Given the description of an element on the screen output the (x, y) to click on. 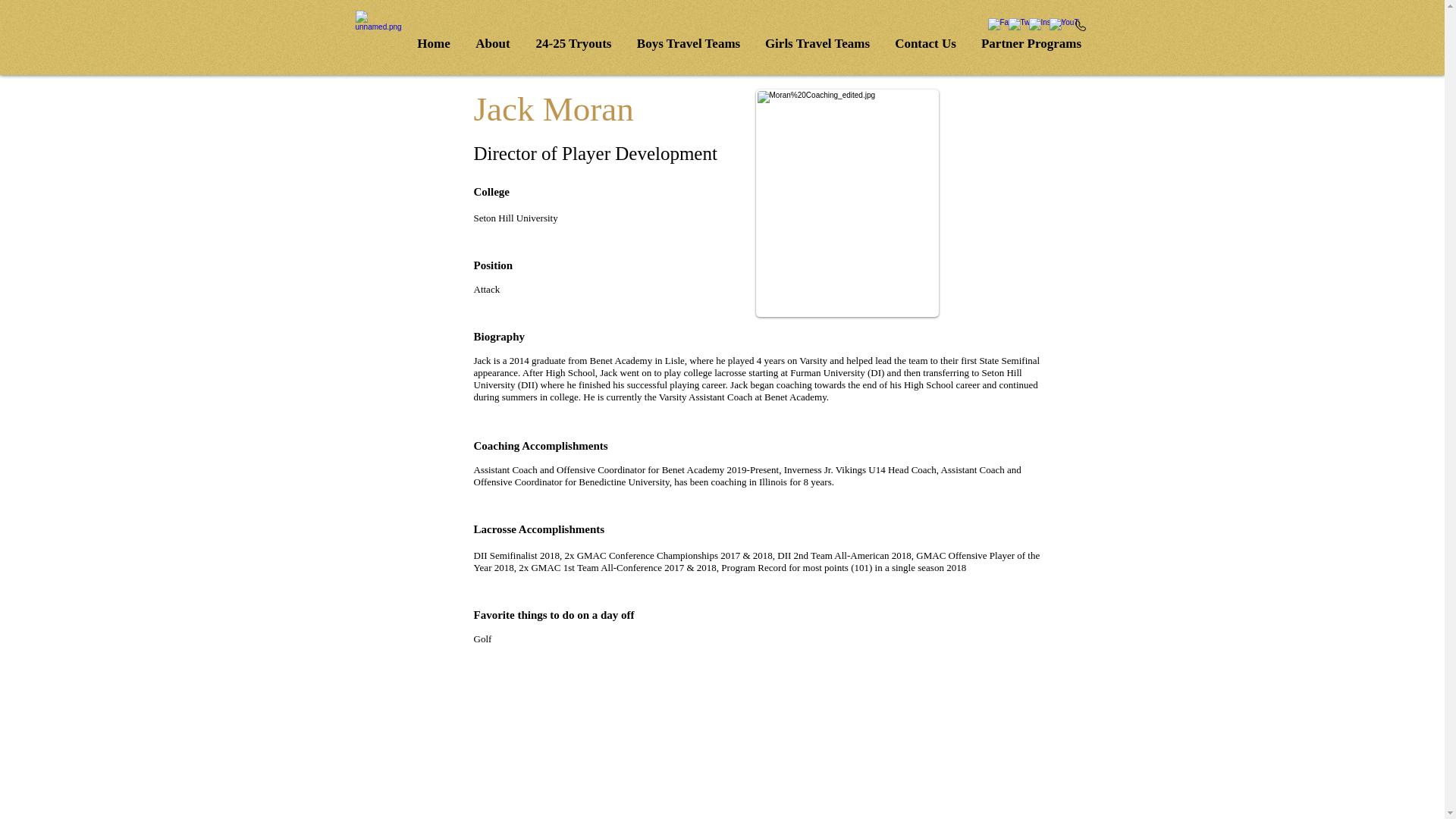
About (492, 43)
Girls Travel Teams (817, 43)
Home (433, 43)
Partner Programs (1031, 43)
Contact Us (925, 43)
Boys Travel Teams (688, 43)
